Given the description of an element on the screen output the (x, y) to click on. 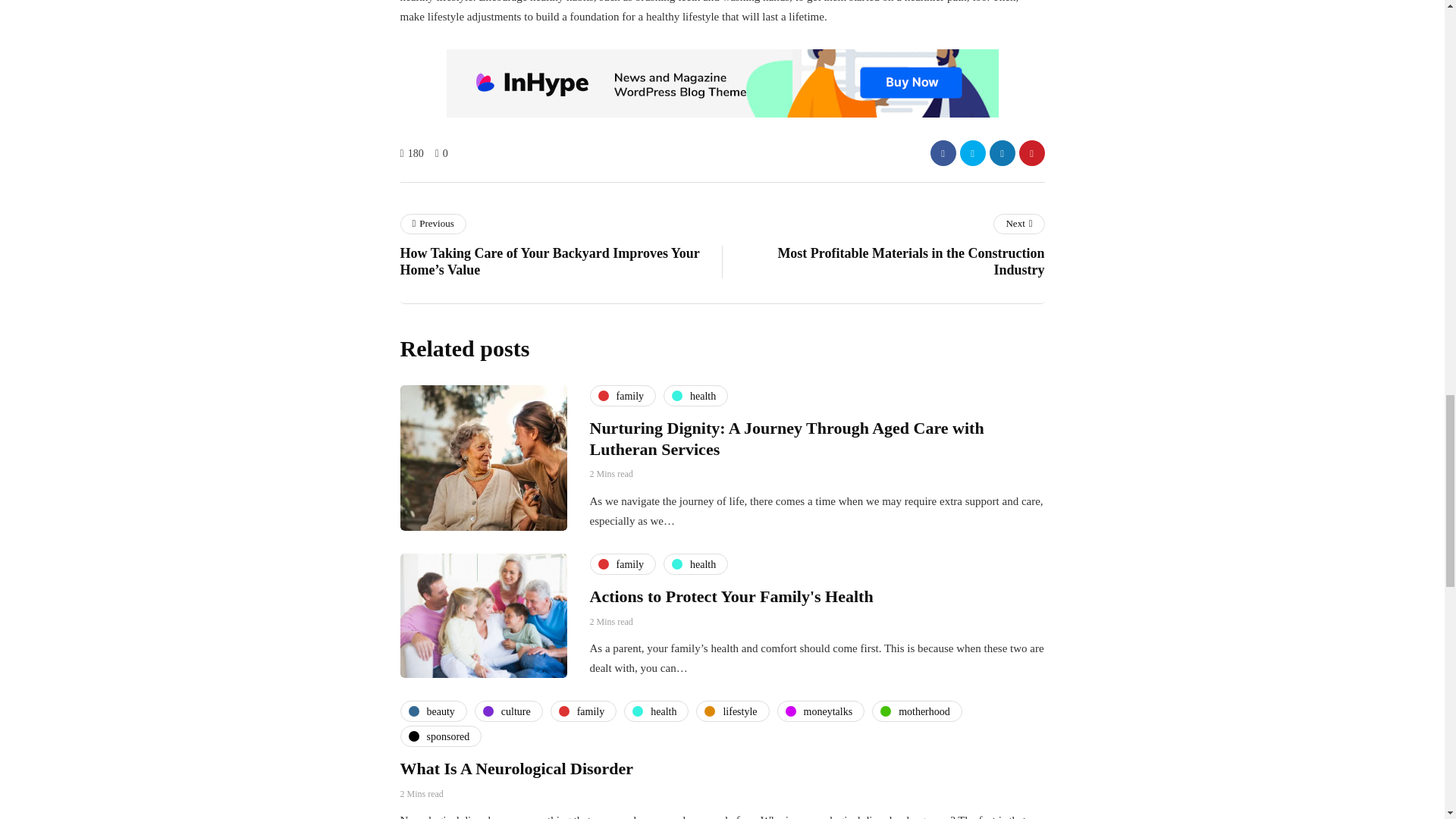
Pin this (1032, 153)
Share with Facebook (942, 153)
Share with LinkedIn (1001, 153)
Tweet this (972, 153)
